Given the description of an element on the screen output the (x, y) to click on. 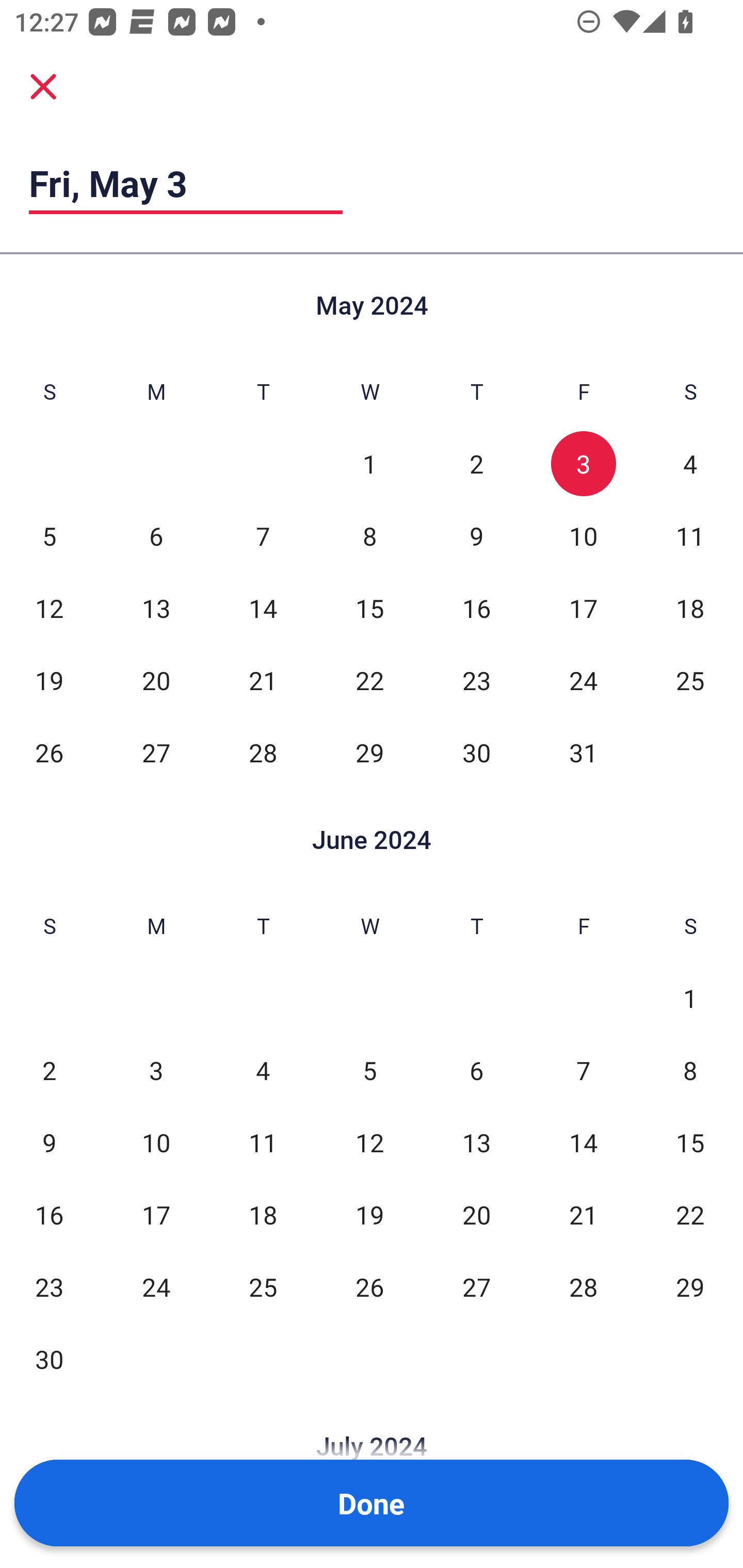
Cancel (43, 86)
Fri, May 3 (185, 182)
1 Wed, May 1, Not Selected (369, 464)
2 Thu, May 2, Not Selected (476, 464)
3 Fri, May 3, Selected (583, 464)
4 Sat, May 4, Not Selected (690, 464)
5 Sun, May 5, Not Selected (49, 536)
6 Mon, May 6, Not Selected (156, 536)
7 Tue, May 7, Not Selected (263, 536)
8 Wed, May 8, Not Selected (369, 536)
9 Thu, May 9, Not Selected (476, 536)
10 Fri, May 10, Not Selected (583, 536)
11 Sat, May 11, Not Selected (690, 536)
12 Sun, May 12, Not Selected (49, 608)
13 Mon, May 13, Not Selected (156, 608)
14 Tue, May 14, Not Selected (263, 608)
15 Wed, May 15, Not Selected (369, 608)
16 Thu, May 16, Not Selected (476, 608)
17 Fri, May 17, Not Selected (583, 608)
18 Sat, May 18, Not Selected (690, 608)
19 Sun, May 19, Not Selected (49, 680)
20 Mon, May 20, Not Selected (156, 680)
21 Tue, May 21, Not Selected (263, 680)
22 Wed, May 22, Not Selected (369, 680)
23 Thu, May 23, Not Selected (476, 680)
24 Fri, May 24, Not Selected (583, 680)
25 Sat, May 25, Not Selected (690, 680)
26 Sun, May 26, Not Selected (49, 752)
27 Mon, May 27, Not Selected (156, 752)
28 Tue, May 28, Not Selected (263, 752)
29 Wed, May 29, Not Selected (369, 752)
30 Thu, May 30, Not Selected (476, 752)
31 Fri, May 31, Not Selected (583, 752)
1 Sat, Jun 1, Not Selected (690, 997)
2 Sun, Jun 2, Not Selected (49, 1070)
3 Mon, Jun 3, Not Selected (156, 1070)
4 Tue, Jun 4, Not Selected (263, 1070)
5 Wed, Jun 5, Not Selected (369, 1070)
6 Thu, Jun 6, Not Selected (476, 1070)
7 Fri, Jun 7, Not Selected (583, 1070)
8 Sat, Jun 8, Not Selected (690, 1070)
9 Sun, Jun 9, Not Selected (49, 1143)
10 Mon, Jun 10, Not Selected (156, 1143)
11 Tue, Jun 11, Not Selected (263, 1143)
12 Wed, Jun 12, Not Selected (369, 1143)
13 Thu, Jun 13, Not Selected (476, 1143)
14 Fri, Jun 14, Not Selected (583, 1143)
15 Sat, Jun 15, Not Selected (690, 1143)
16 Sun, Jun 16, Not Selected (49, 1215)
17 Mon, Jun 17, Not Selected (156, 1215)
